Given the description of an element on the screen output the (x, y) to click on. 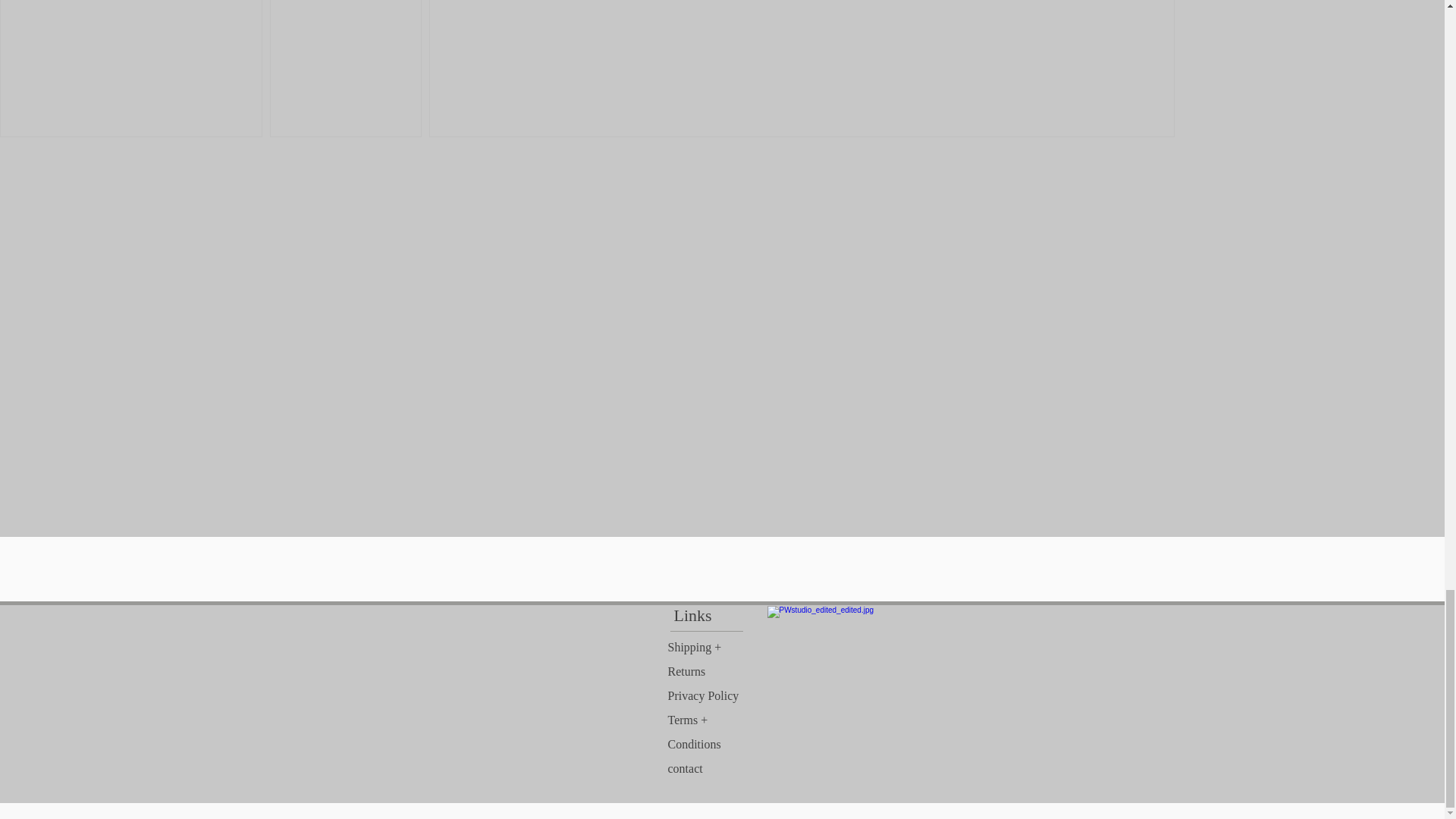
Privacy Policy (702, 695)
contact (683, 768)
